Given the description of an element on the screen output the (x, y) to click on. 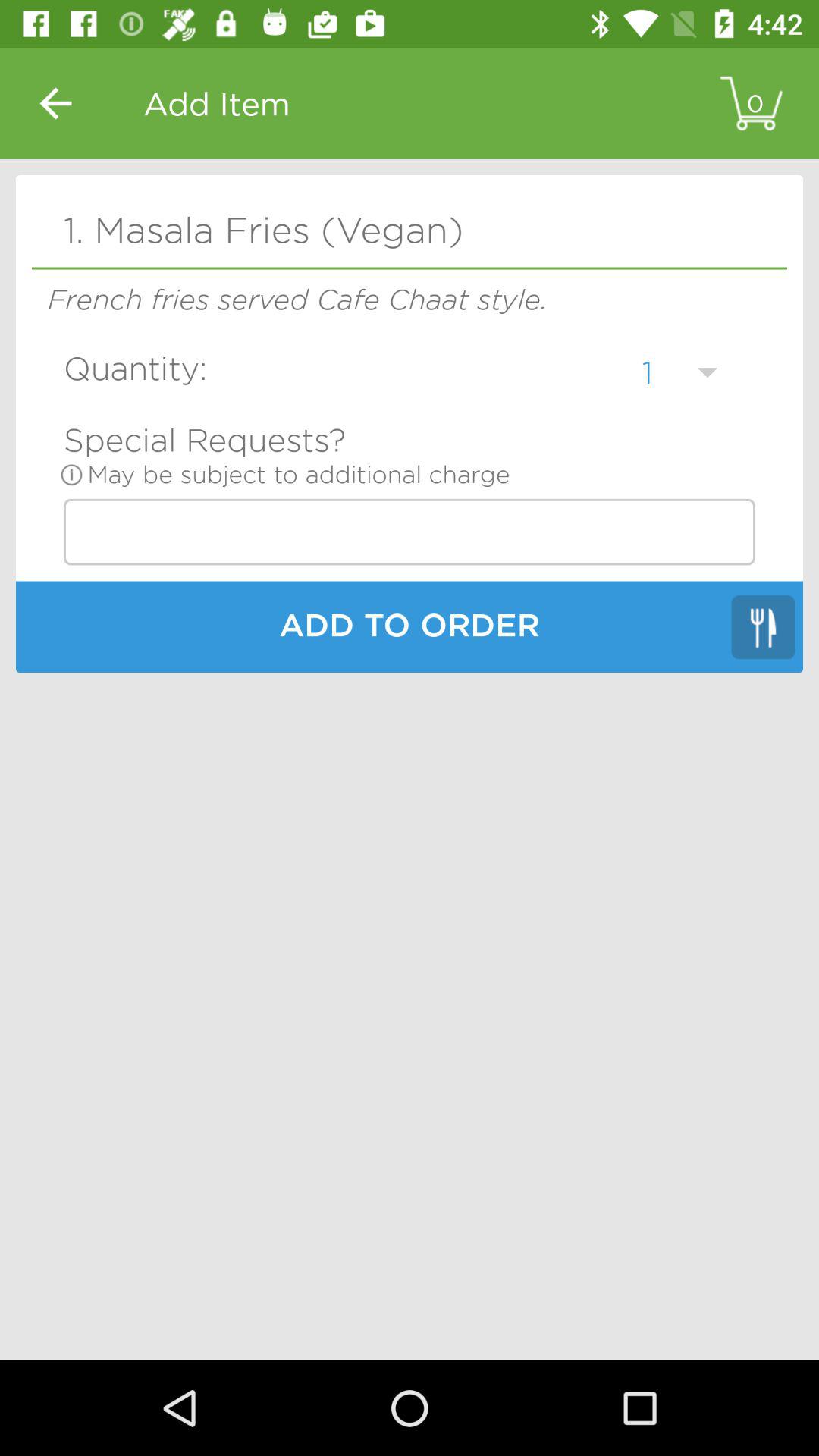
tap icon above add to order icon (409, 531)
